Given the description of an element on the screen output the (x, y) to click on. 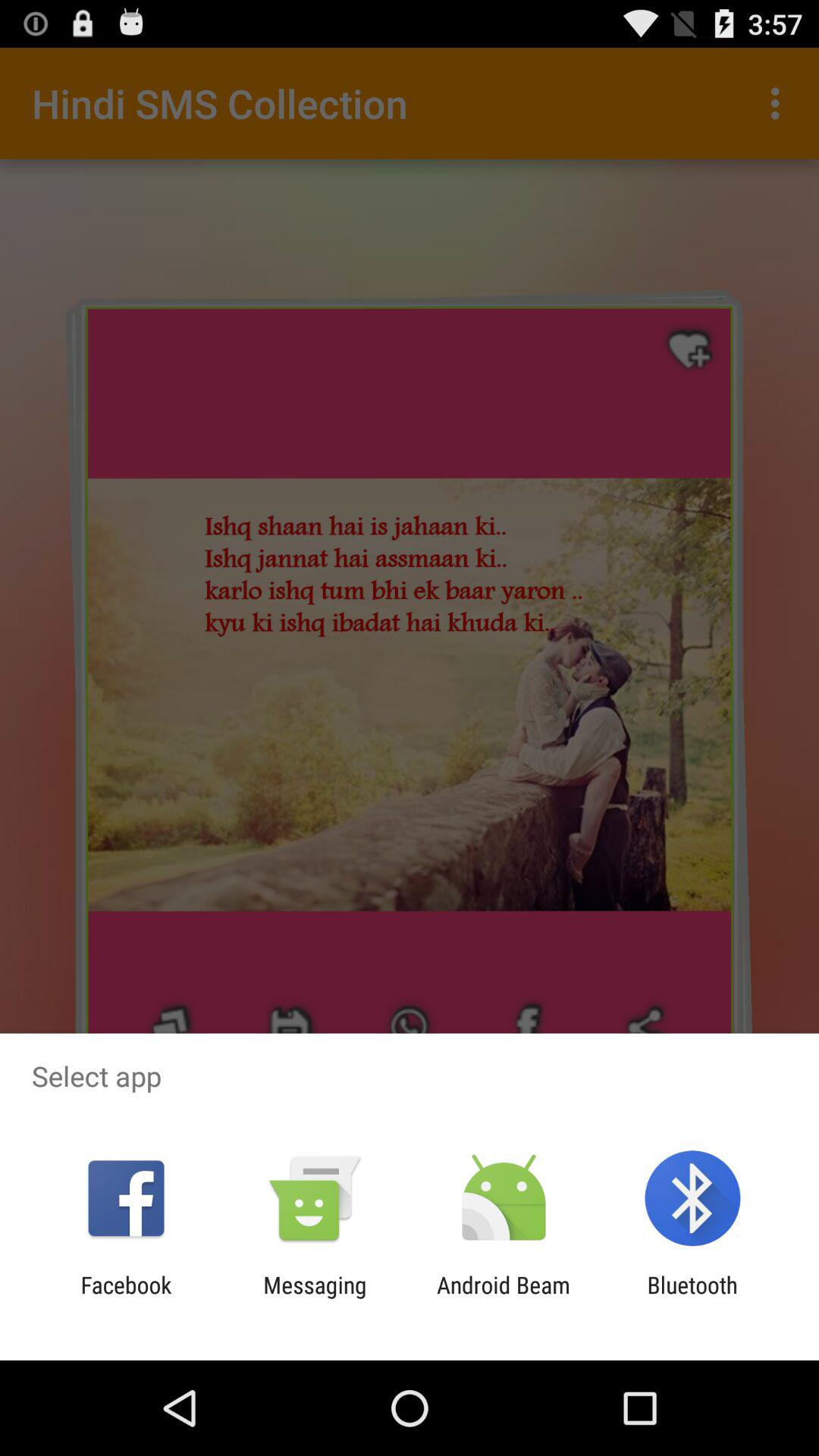
tap the icon next to the android beam (314, 1298)
